Given the description of an element on the screen output the (x, y) to click on. 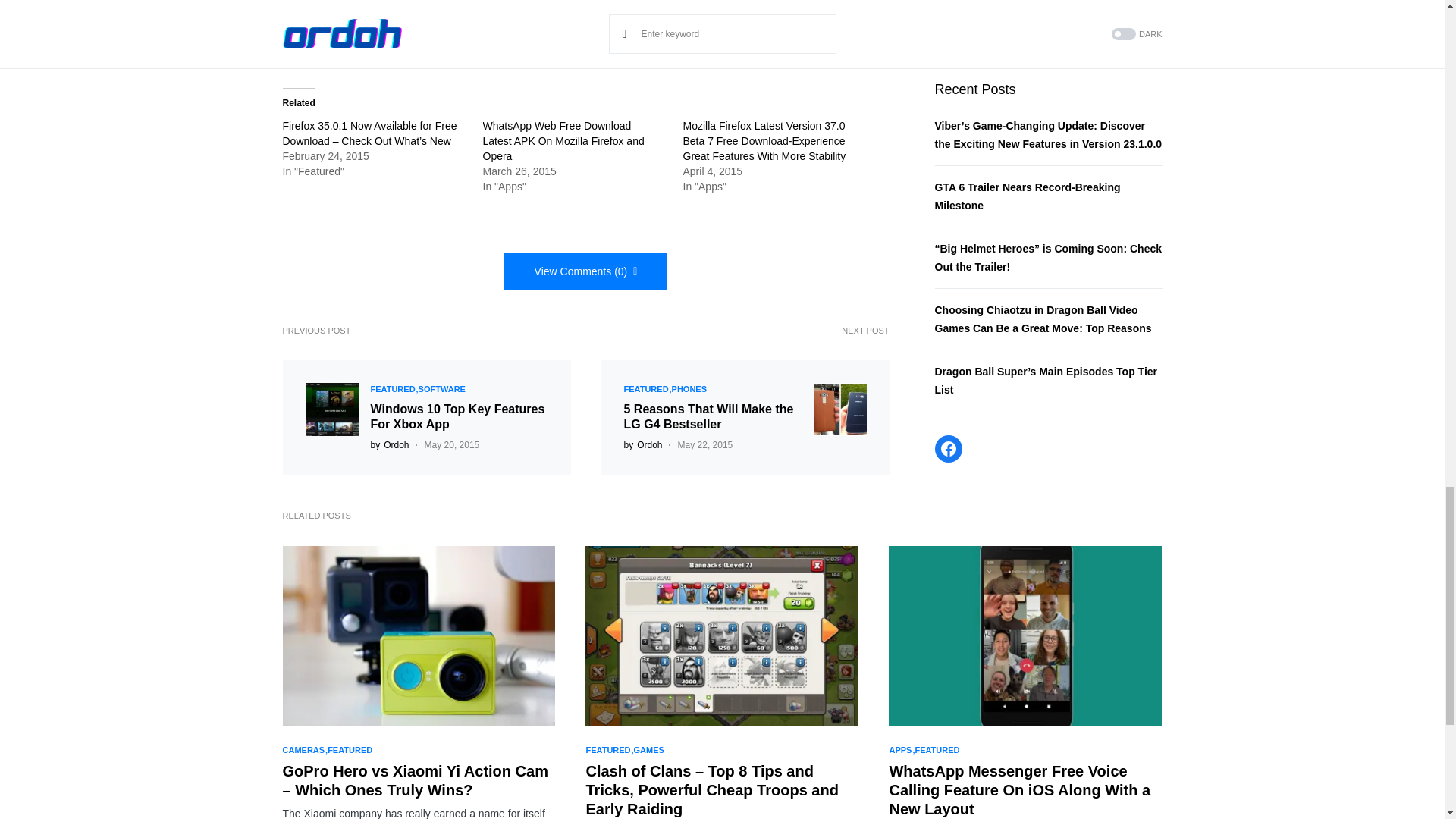
View all posts by Ordoh (389, 445)
View all posts by Ordoh (642, 445)
Like or Reblog (585, 30)
